Given the description of an element on the screen output the (x, y) to click on. 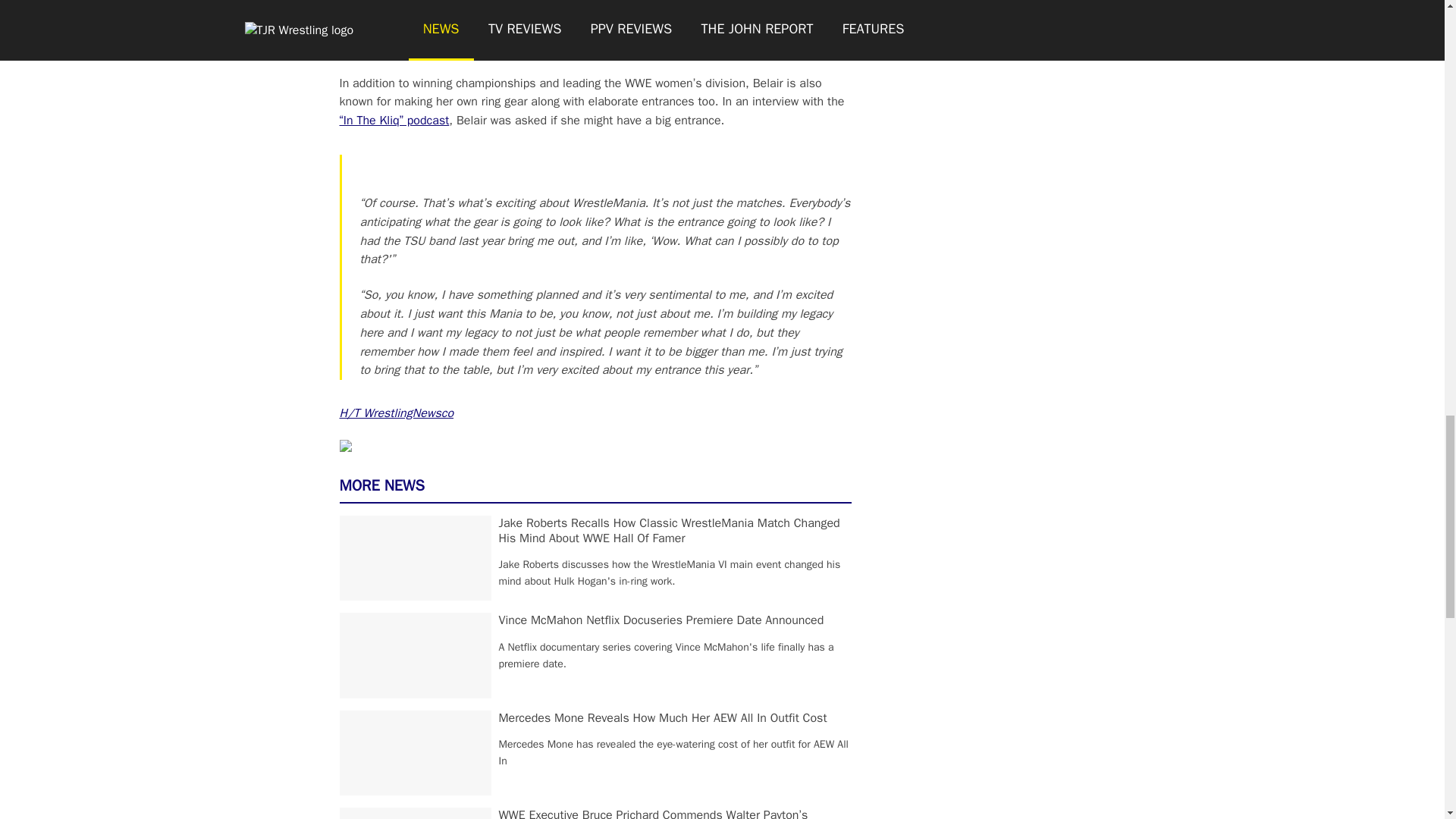
Vince McMahon Netflix Docuseries Premiere Date Announced (661, 620)
Mercedes Mone Reveals How Much Her AEW All In Outfit Cost (663, 717)
